Given the description of an element on the screen output the (x, y) to click on. 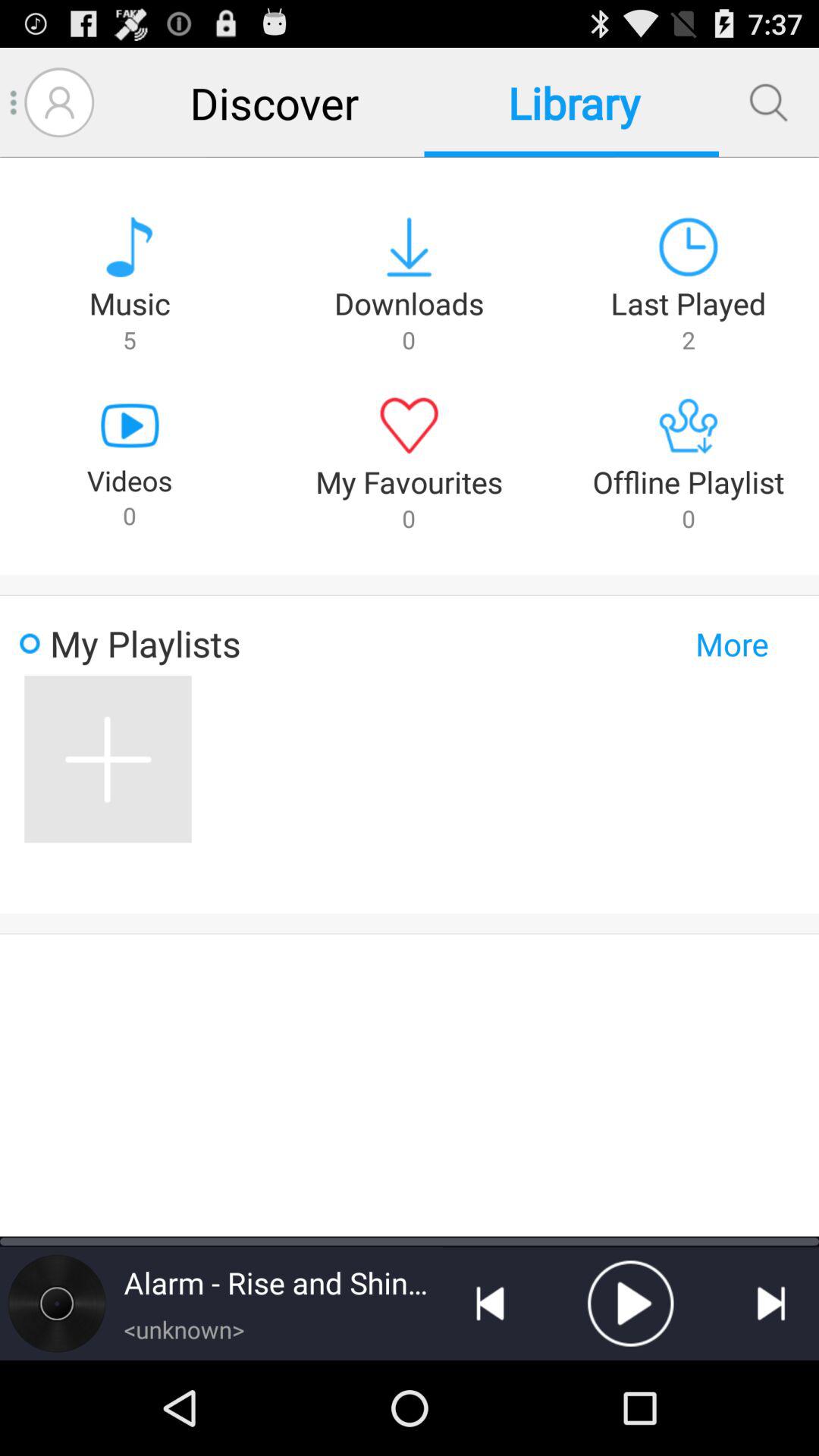
access search fucntion (768, 102)
